Given the description of an element on the screen output the (x, y) to click on. 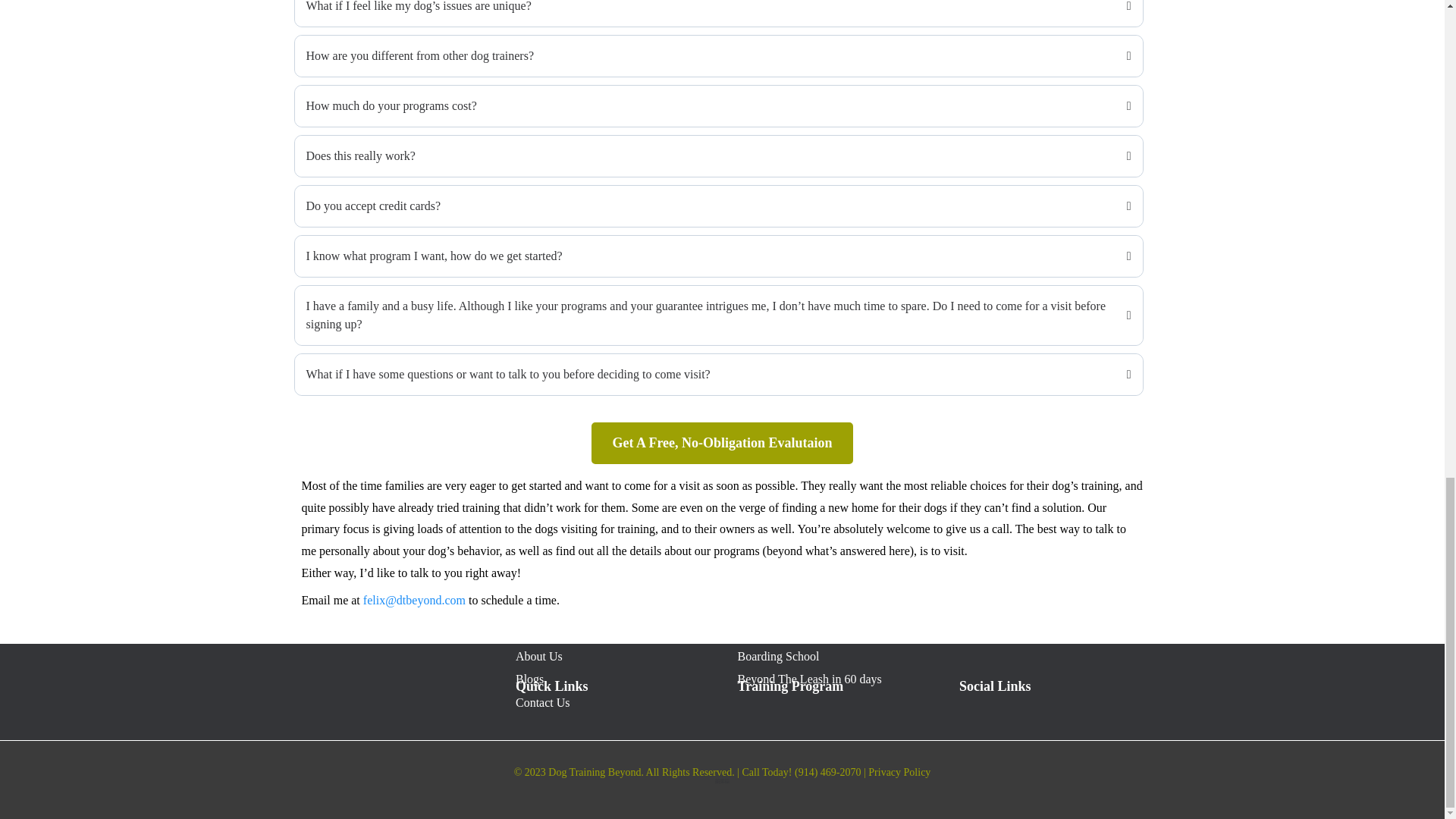
Beyond The Leash in 60 days (808, 678)
Blogs (529, 678)
Contact Us (542, 702)
Boarding School (777, 656)
About Us (538, 656)
Get A Free, No-Obligation Evalutaion (721, 443)
